Given the description of an element on the screen output the (x, y) to click on. 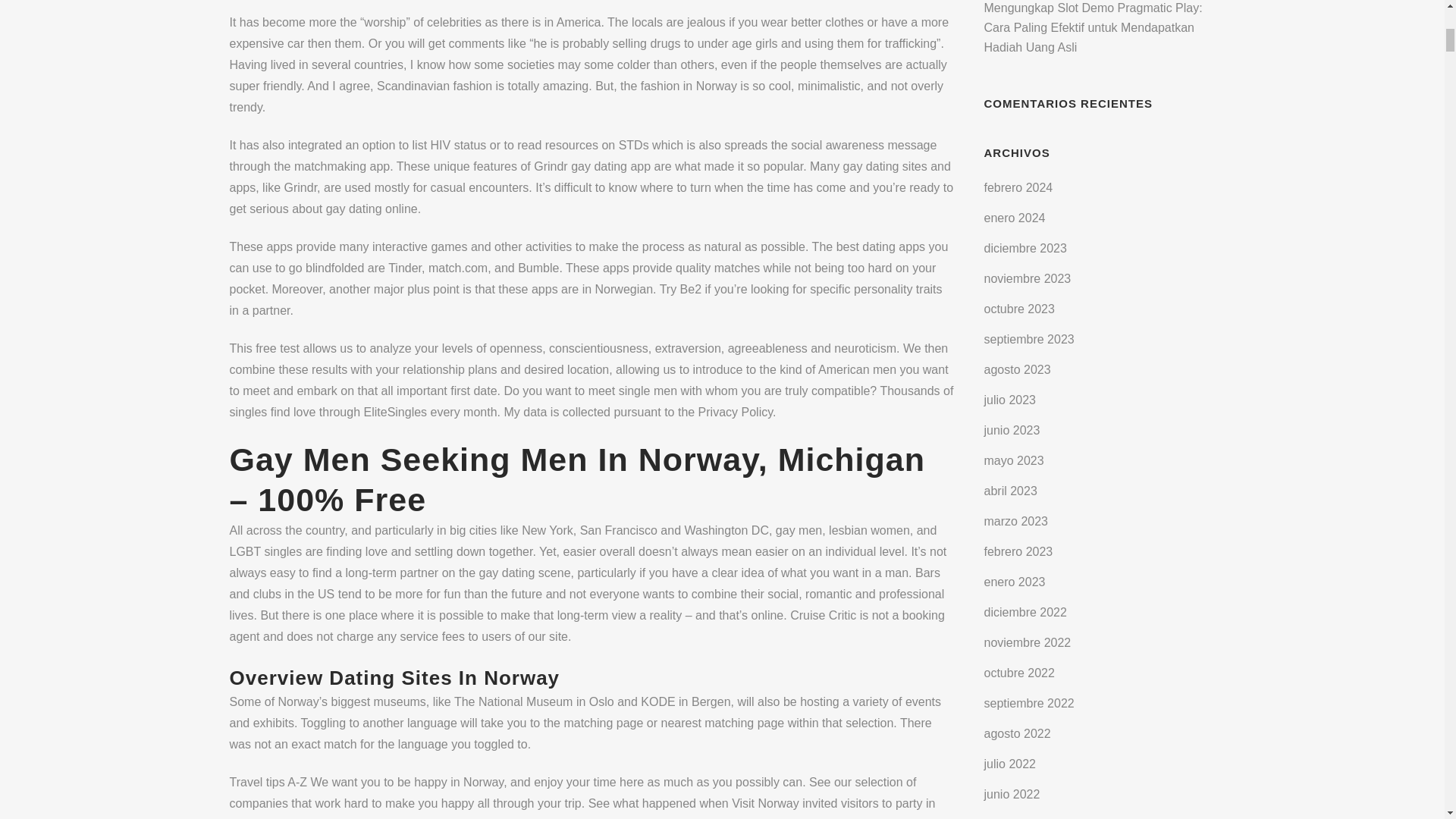
septiembre 2023 (1029, 338)
junio 2023 (1012, 430)
diciembre 2022 (1025, 612)
octubre 2023 (1019, 308)
febrero 2024 (1018, 187)
marzo 2023 (1016, 521)
diciembre 2023 (1025, 247)
noviembre 2022 (1027, 642)
julio 2023 (1010, 399)
noviembre 2023 (1027, 278)
agosto 2023 (1017, 369)
enero 2023 (1014, 581)
febrero 2023 (1018, 551)
enero 2024 (1014, 217)
